Given the description of an element on the screen output the (x, y) to click on. 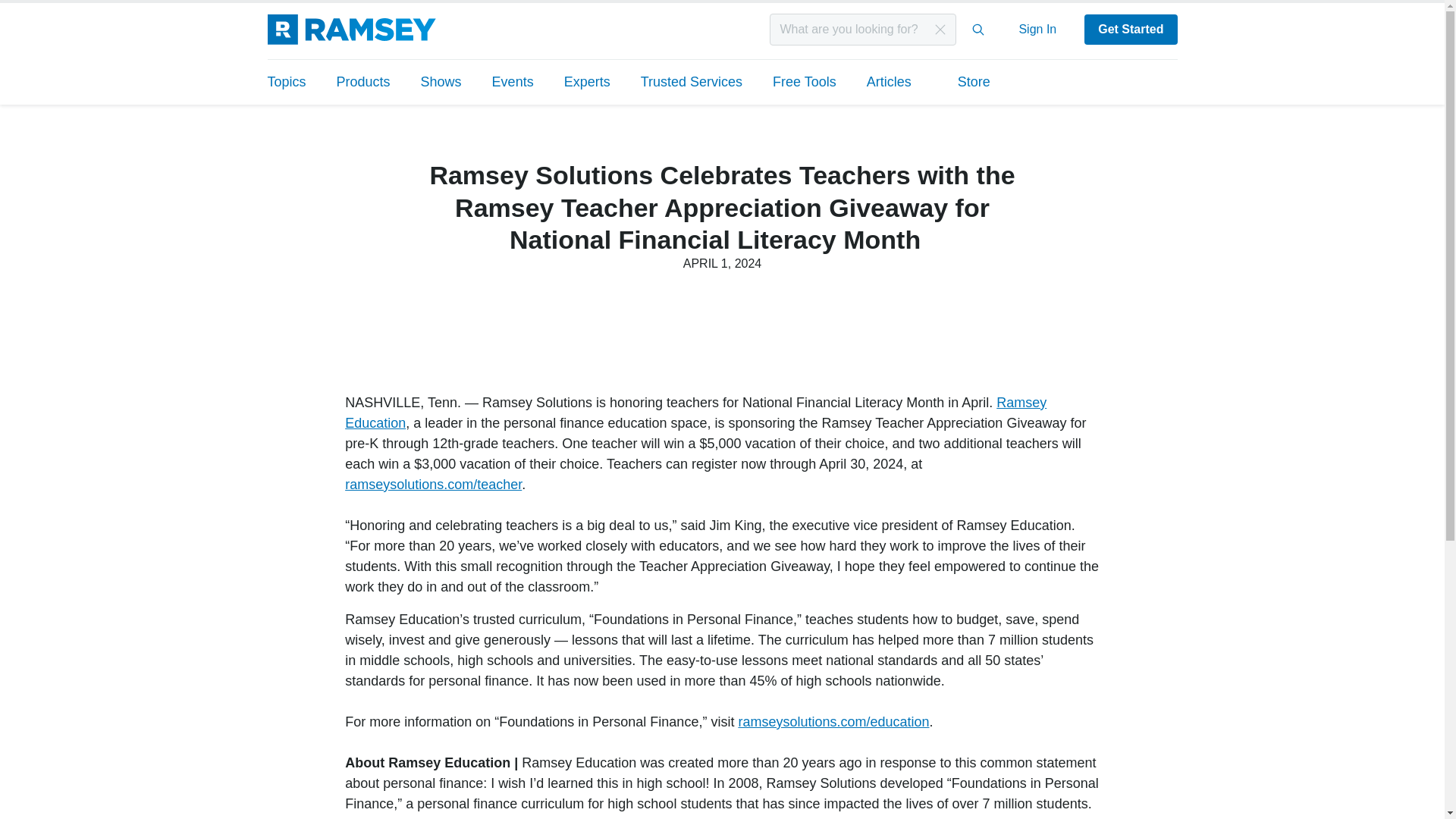
Search (978, 29)
Sign In (1037, 29)
Get Started (1130, 29)
Products (363, 81)
Topics (293, 81)
